Given the description of an element on the screen output the (x, y) to click on. 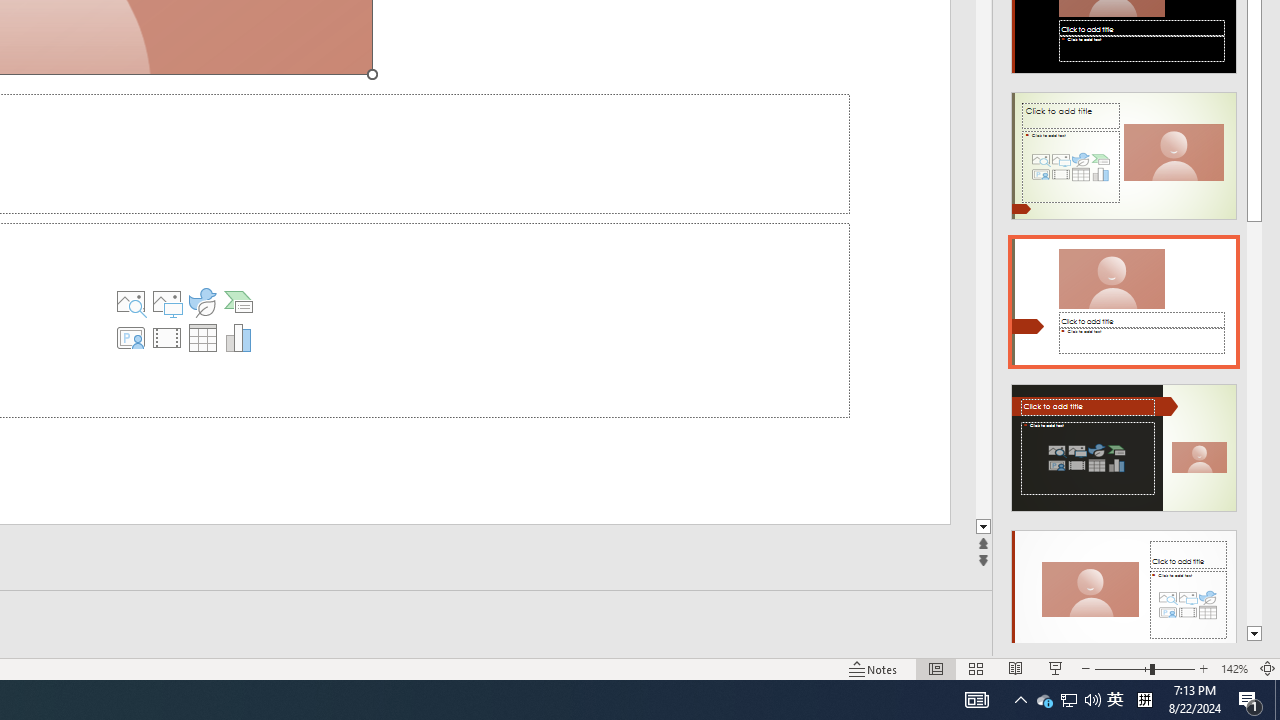
Stock Images (131, 301)
Insert Video (167, 337)
Zoom 142% (1234, 668)
